Given the description of an element on the screen output the (x, y) to click on. 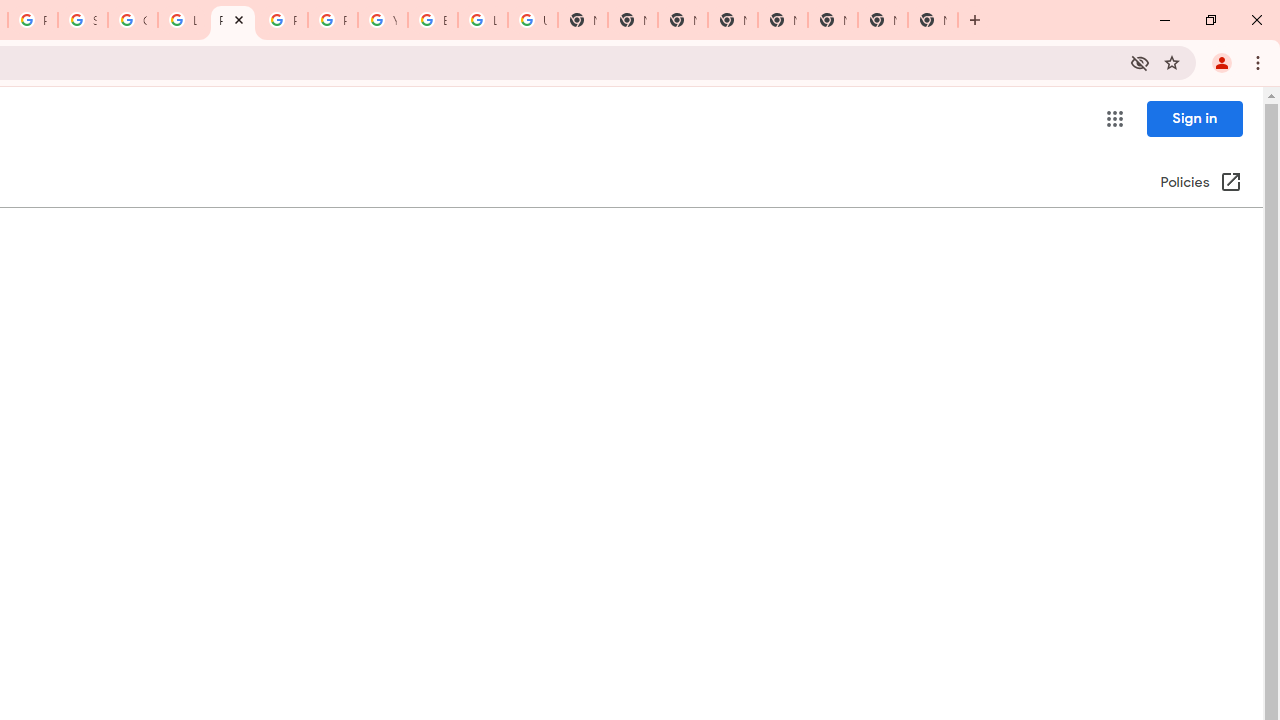
Privacy Help Center - Policies Help (283, 20)
New Tab (932, 20)
YouTube (383, 20)
New Tab (682, 20)
